Given the description of an element on the screen output the (x, y) to click on. 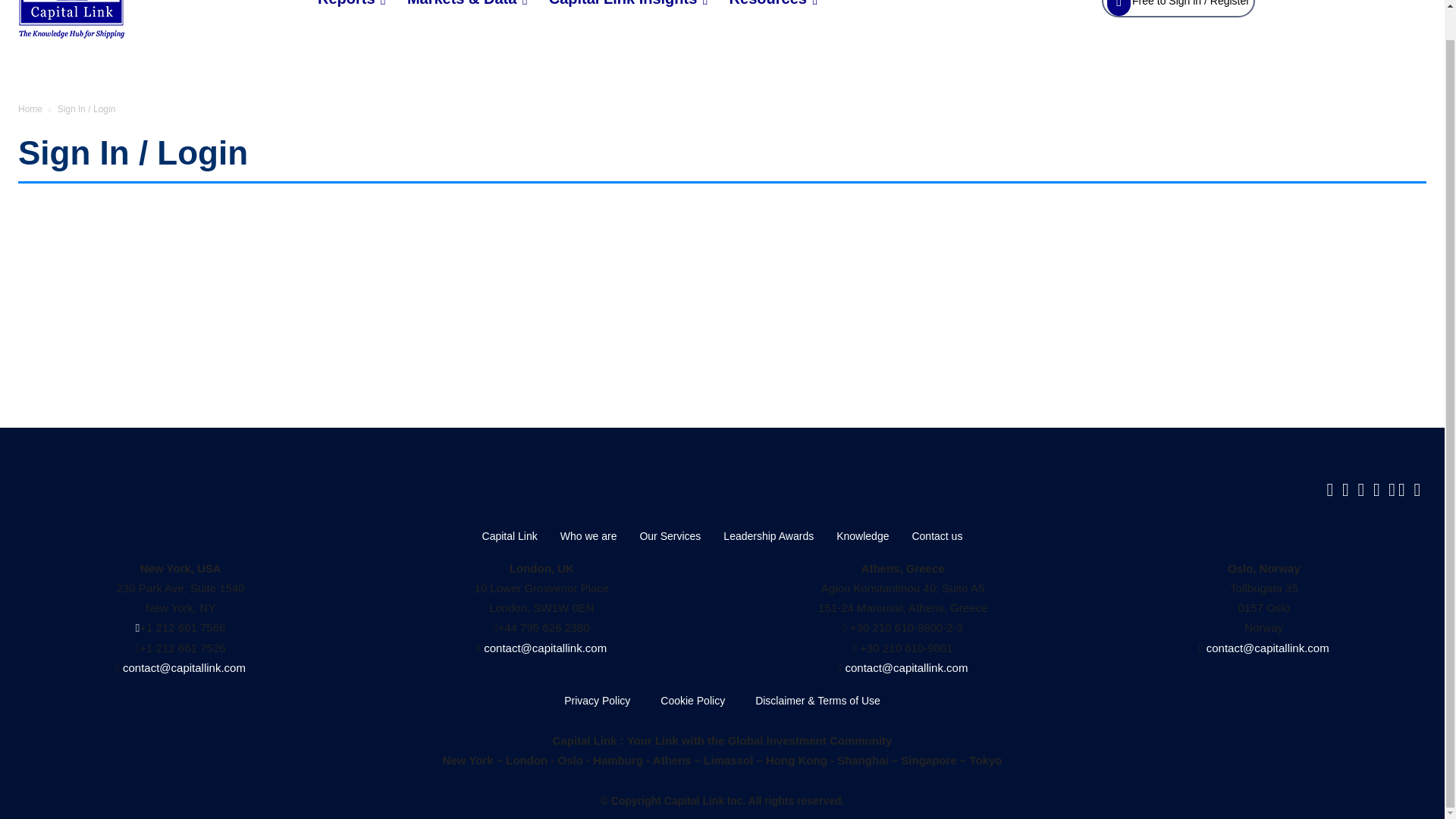
CAPITAL LINK - SHIPPING SITE (70, 20)
CAPITAL LINK - SHIPPING SITE (143, 20)
